Given the description of an element on the screen output the (x, y) to click on. 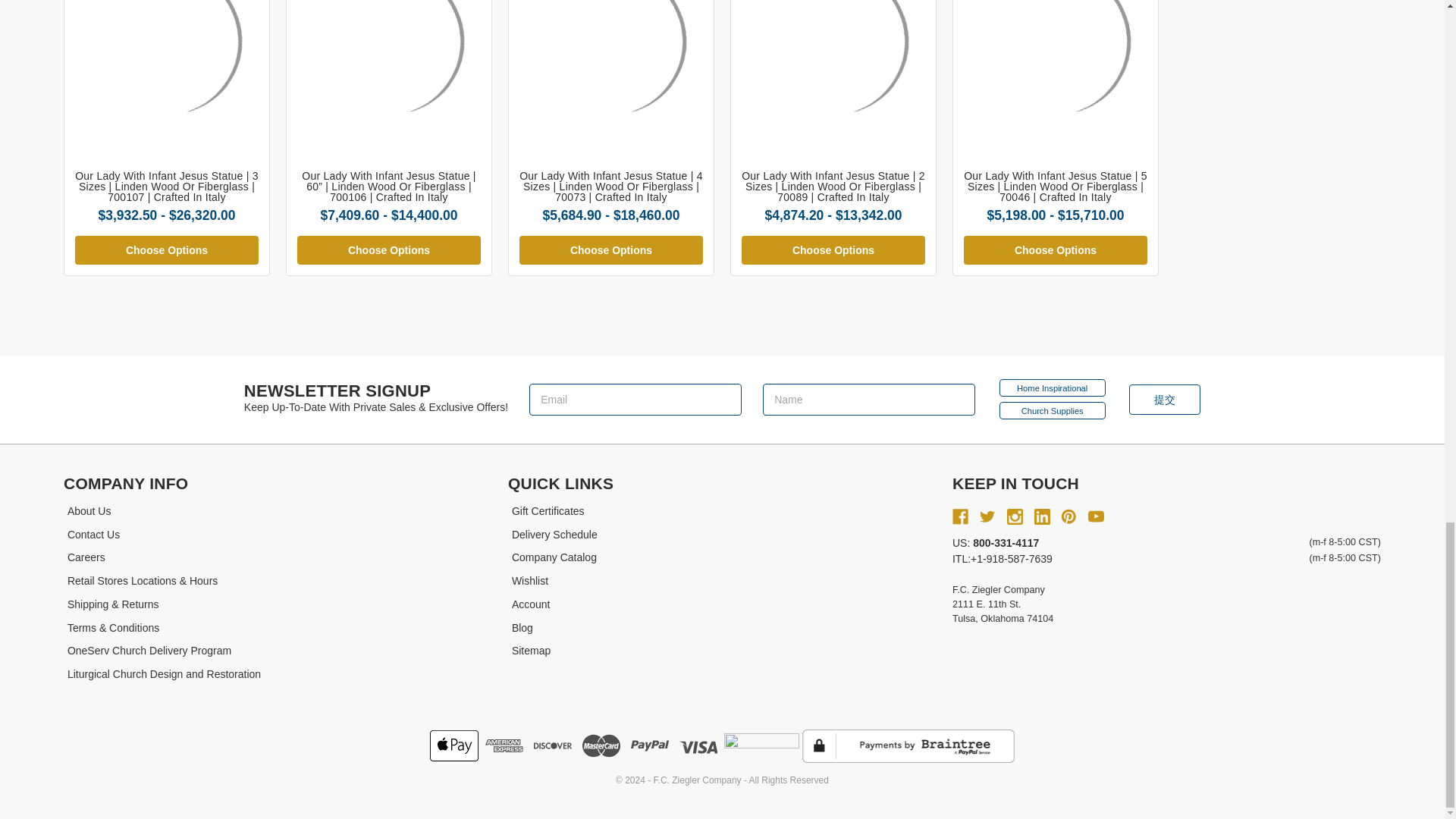
Email (635, 399)
Name (868, 399)
